Given the description of an element on the screen output the (x, y) to click on. 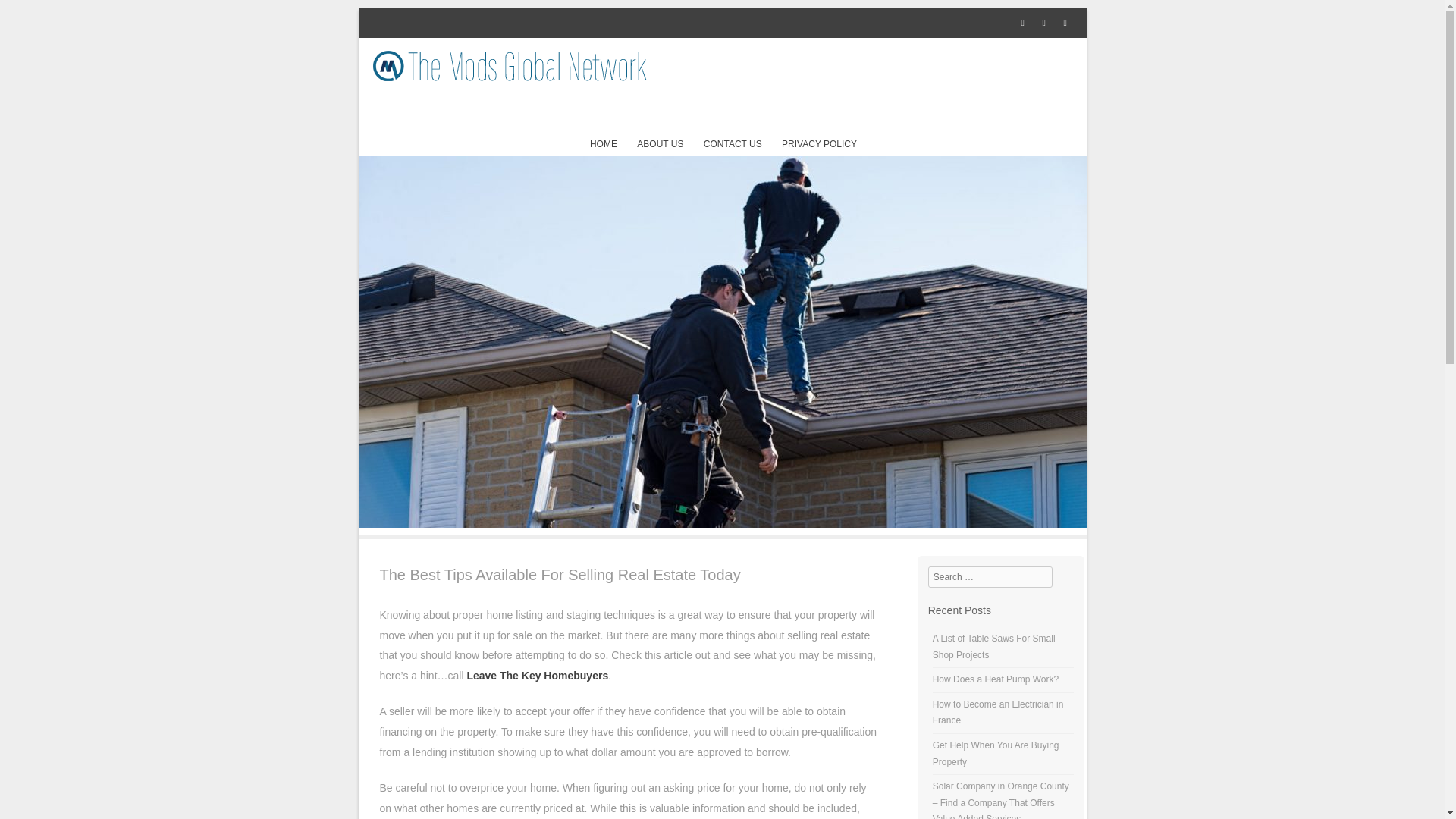
ABOUT US (660, 143)
The Mods Global Network (722, 523)
A List of Table Saws For Small Shop Projects (994, 646)
PRIVACY POLICY (819, 143)
SKIP TO CONTENT (630, 143)
HOME (603, 143)
How Does a Heat Pump Work? (996, 679)
The Mods Global Network (509, 65)
Get Help When You Are Buying Property (996, 753)
Search (33, 17)
